Given the description of an element on the screen output the (x, y) to click on. 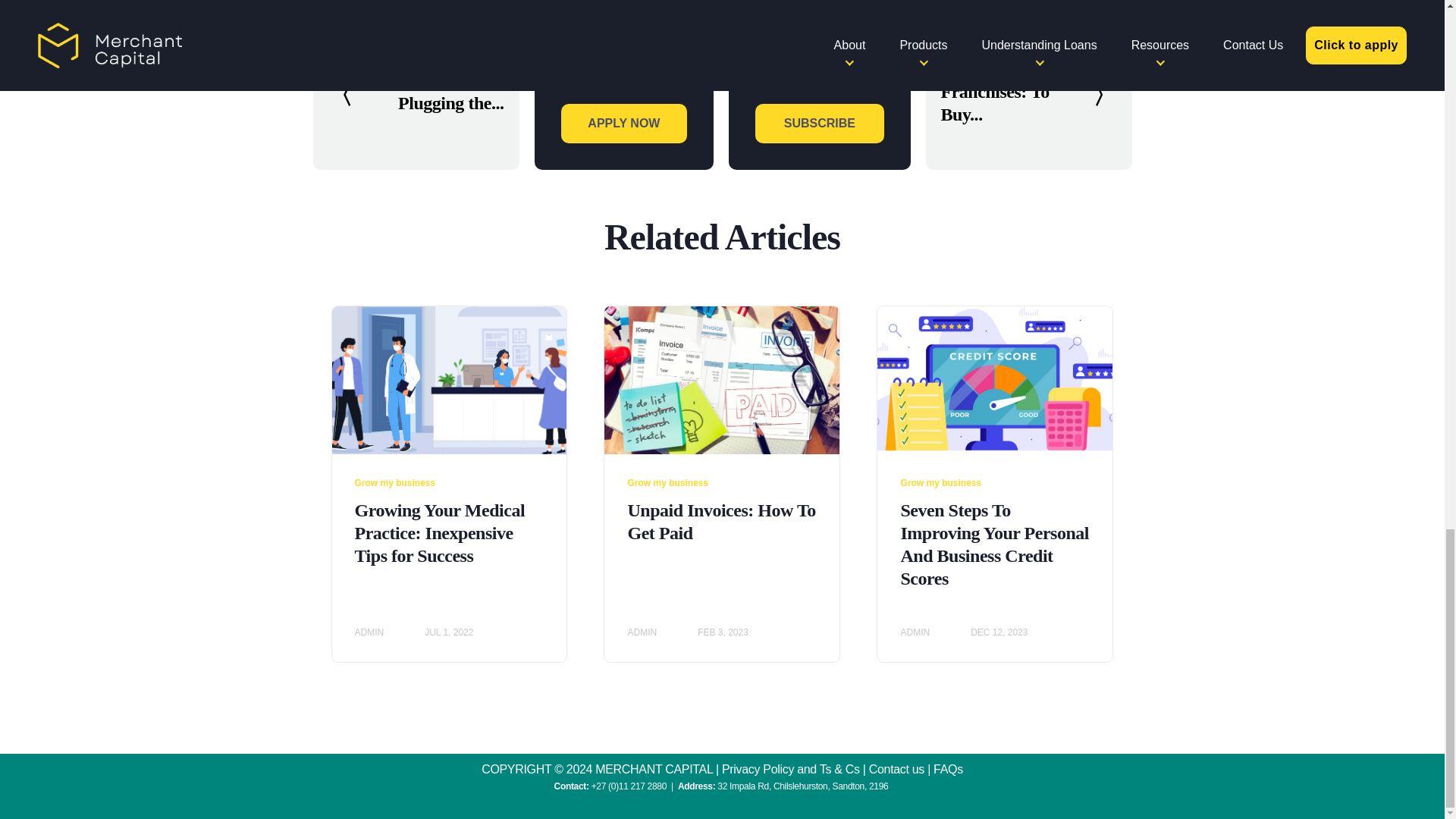
Growing Your Medical Practice: Inexpensive Tips for Success (440, 532)
Unpaid Invoices: How To Get Paid (721, 521)
SUBSCRIBE (819, 123)
APPLY NOW (623, 123)
